Given the description of an element on the screen output the (x, y) to click on. 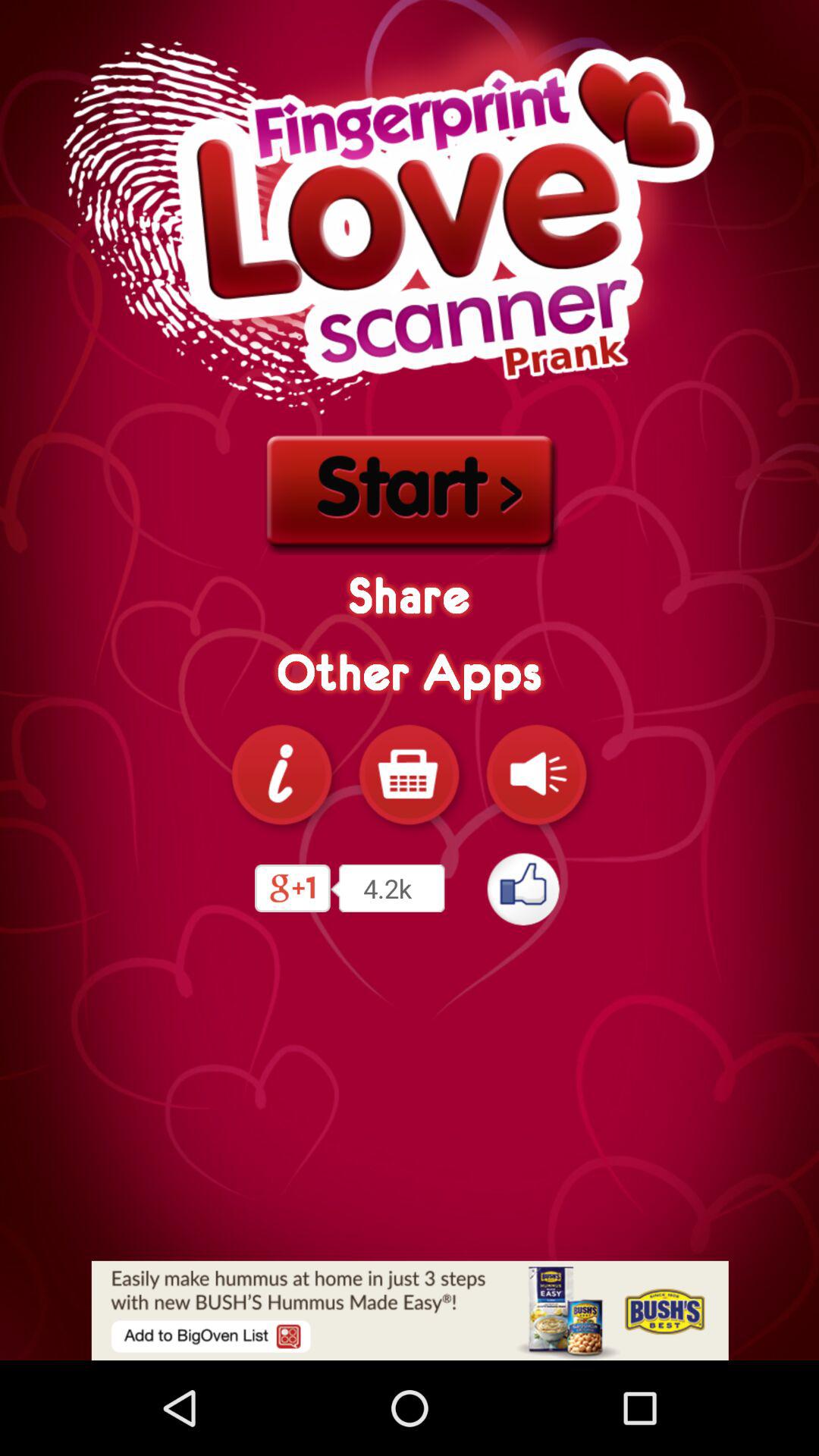
go to info (281, 774)
